Given the description of an element on the screen output the (x, y) to click on. 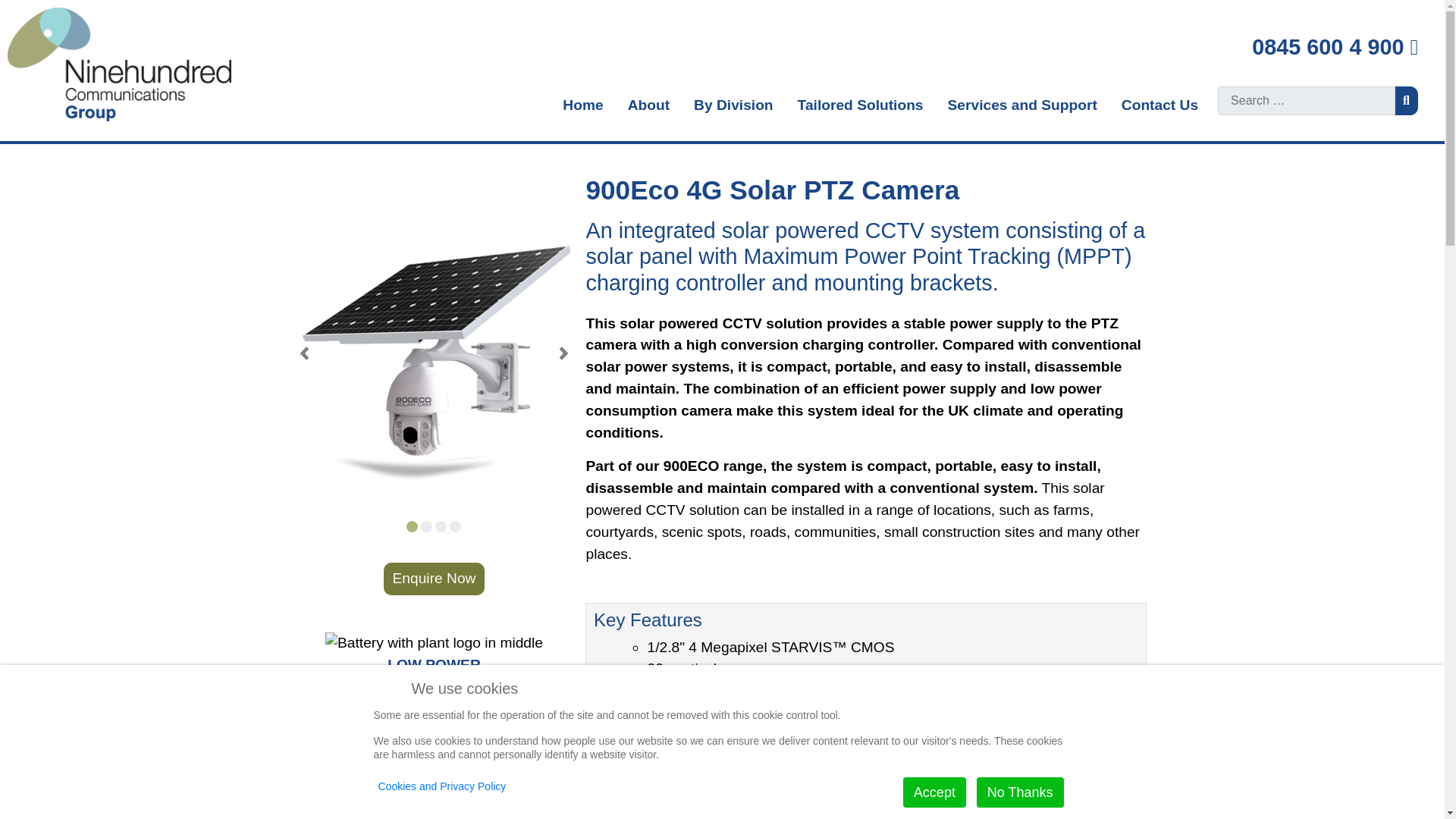
About (648, 106)
0845 600 4 900 (1335, 46)
Home (582, 106)
By Division (733, 106)
